Given the description of an element on the screen output the (x, y) to click on. 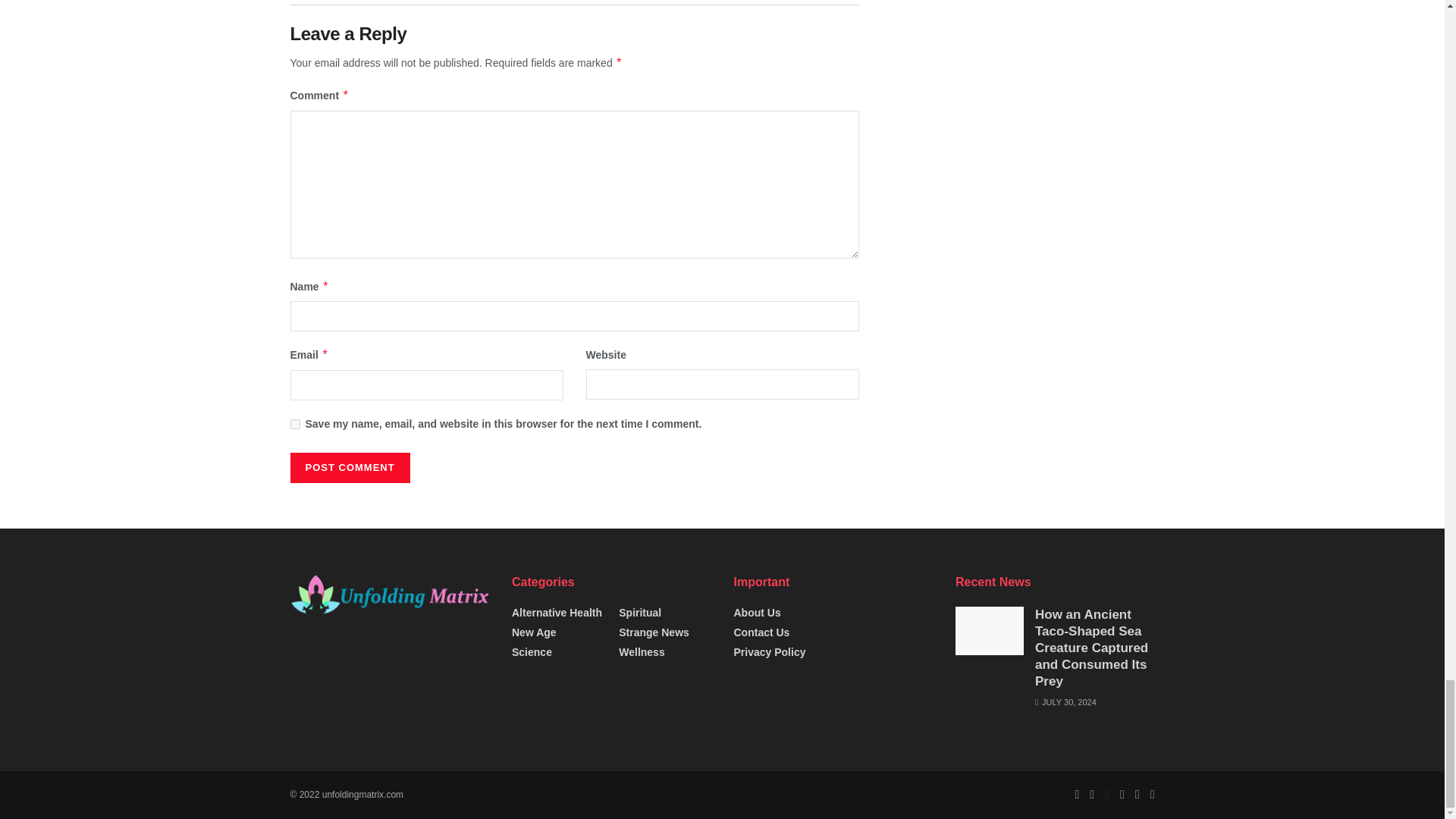
Post Comment (349, 467)
yes (294, 424)
